Given the description of an element on the screen output the (x, y) to click on. 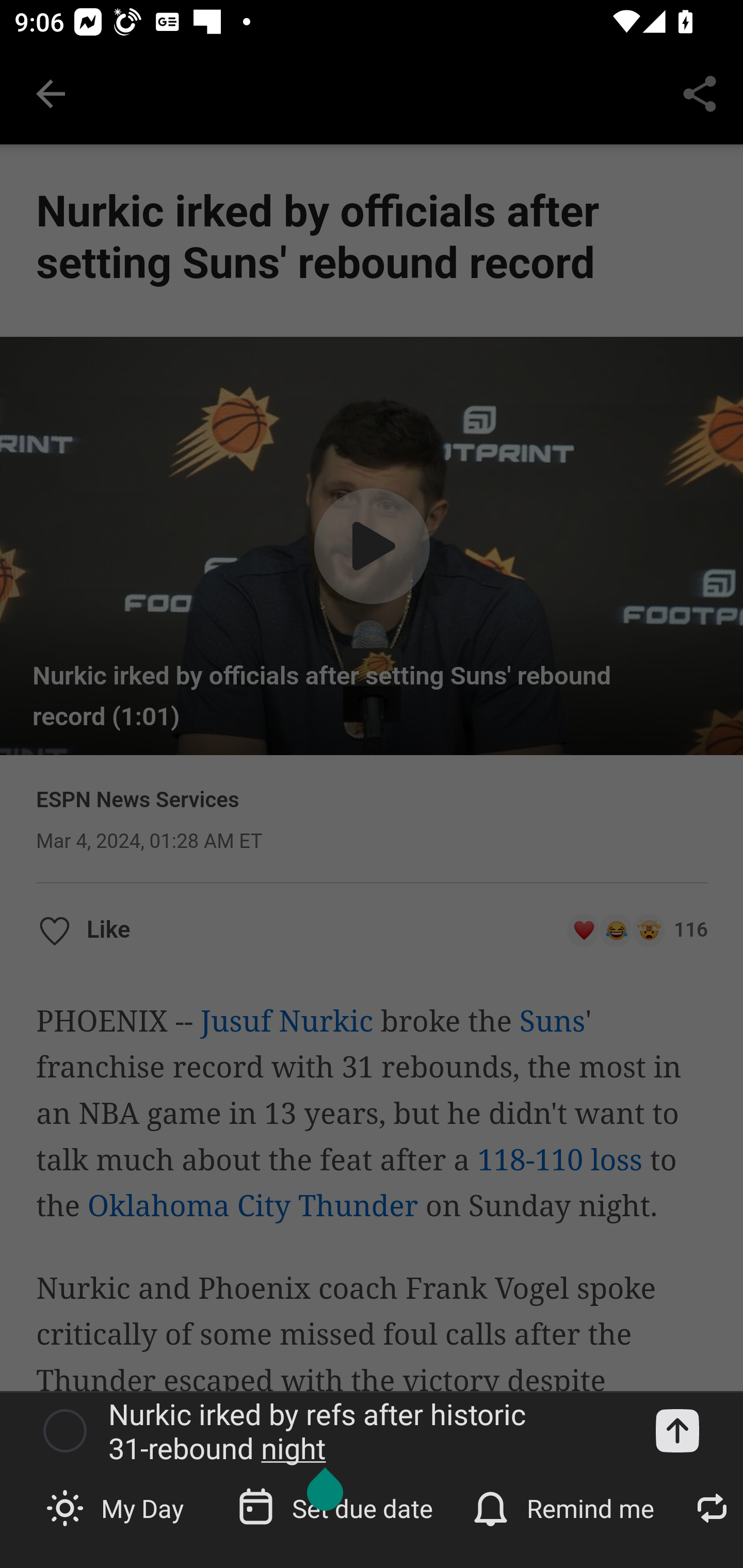
Add a task (676, 1430)
My Day (116, 1507)
Set due date (337, 1507)
Remind me (565, 1507)
